Given the description of an element on the screen output the (x, y) to click on. 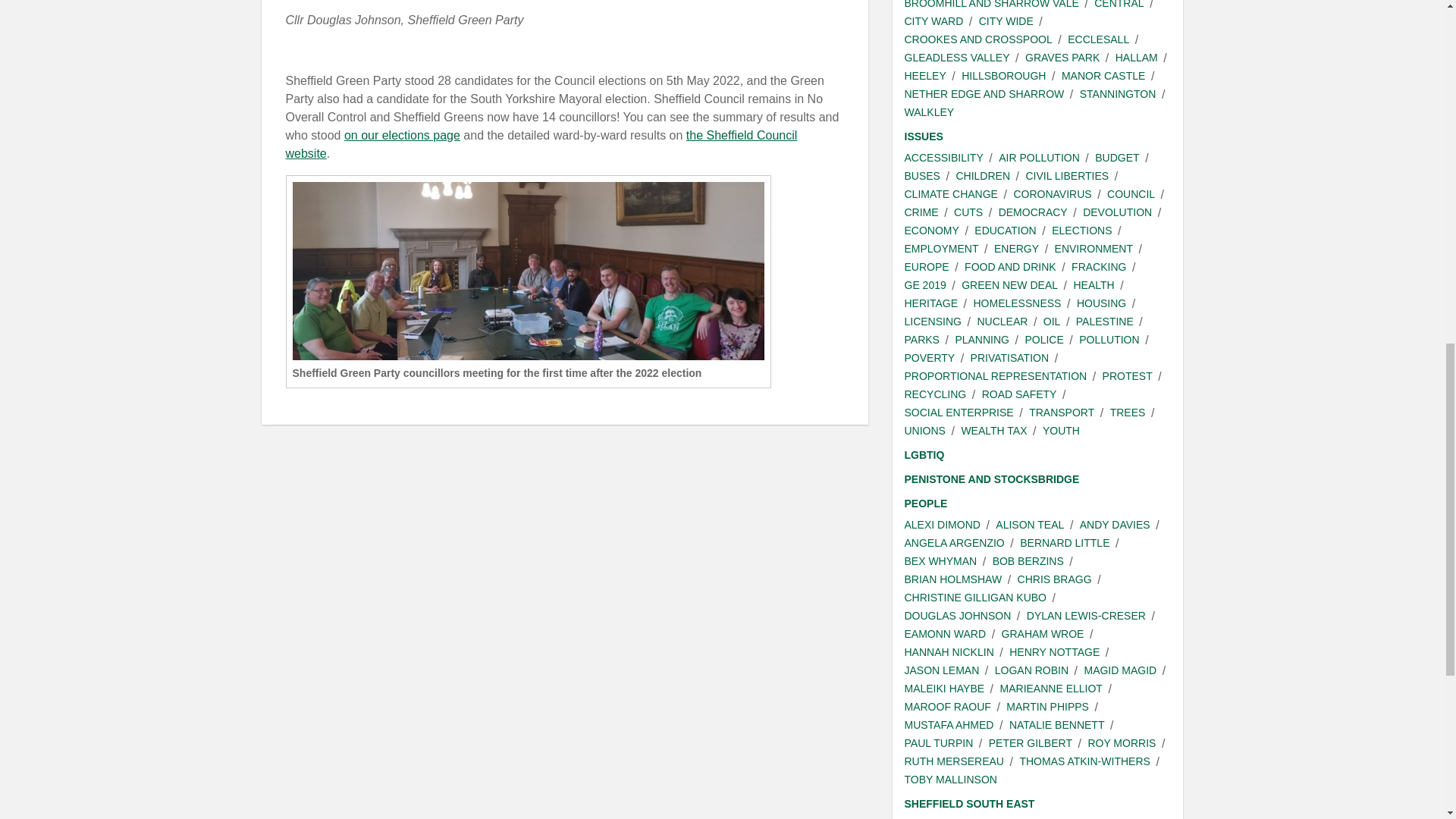
CENTRAL (1118, 5)
on our elections page (401, 134)
CITY WARD (933, 21)
BROOMHILL AND SHARROW VALE (991, 5)
the Sheffield Council website (540, 143)
